Given the description of an element on the screen output the (x, y) to click on. 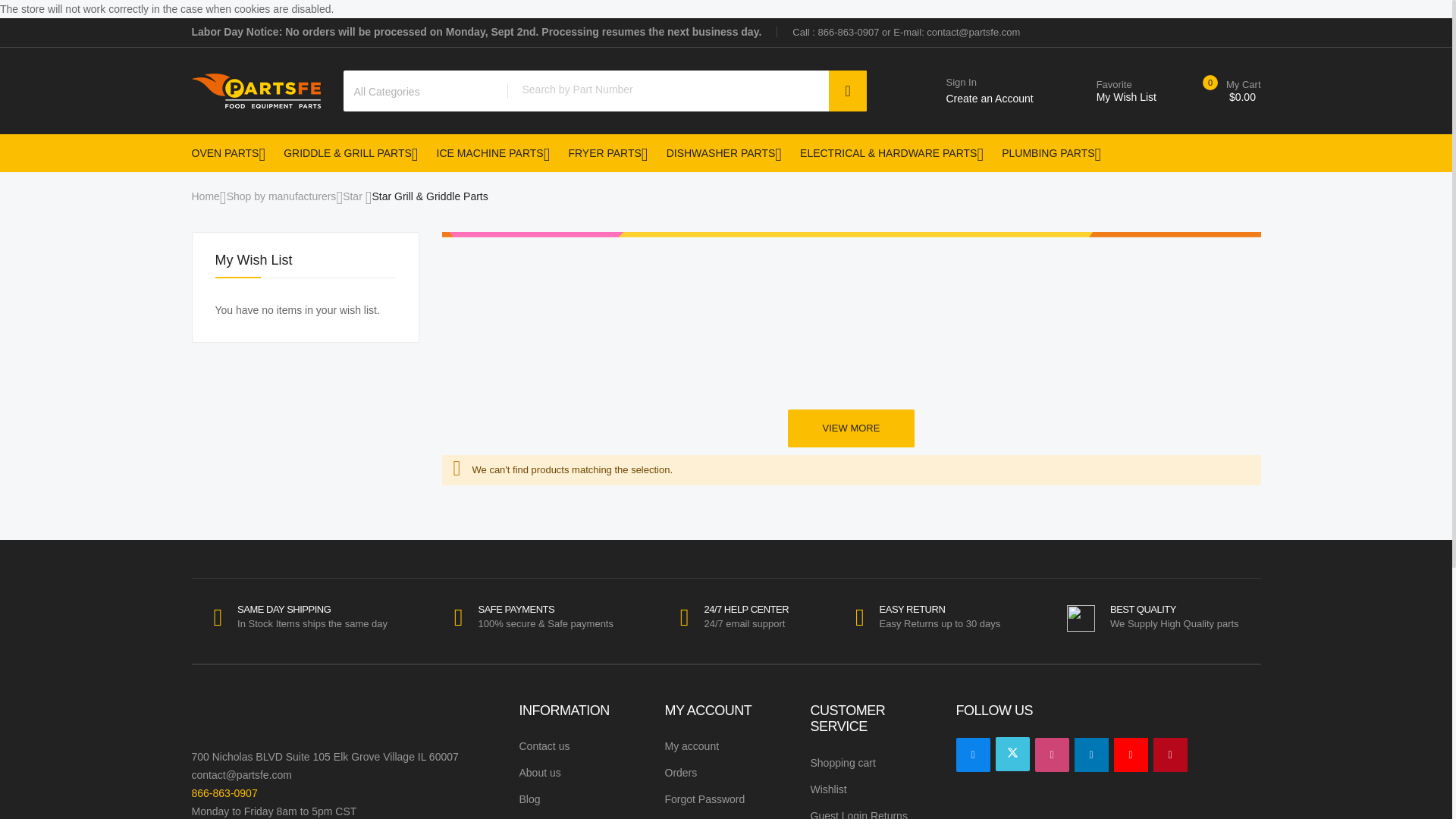
Search (1110, 90)
SEARCH (847, 90)
Go to Home Page (847, 90)
Call : 866-863-0907 (204, 196)
Sign In (835, 31)
Order Tracking (988, 81)
ICE MACHINE PARTS (835, 31)
OVEN PARTS (489, 152)
Create an Account (227, 152)
